Given the description of an element on the screen output the (x, y) to click on. 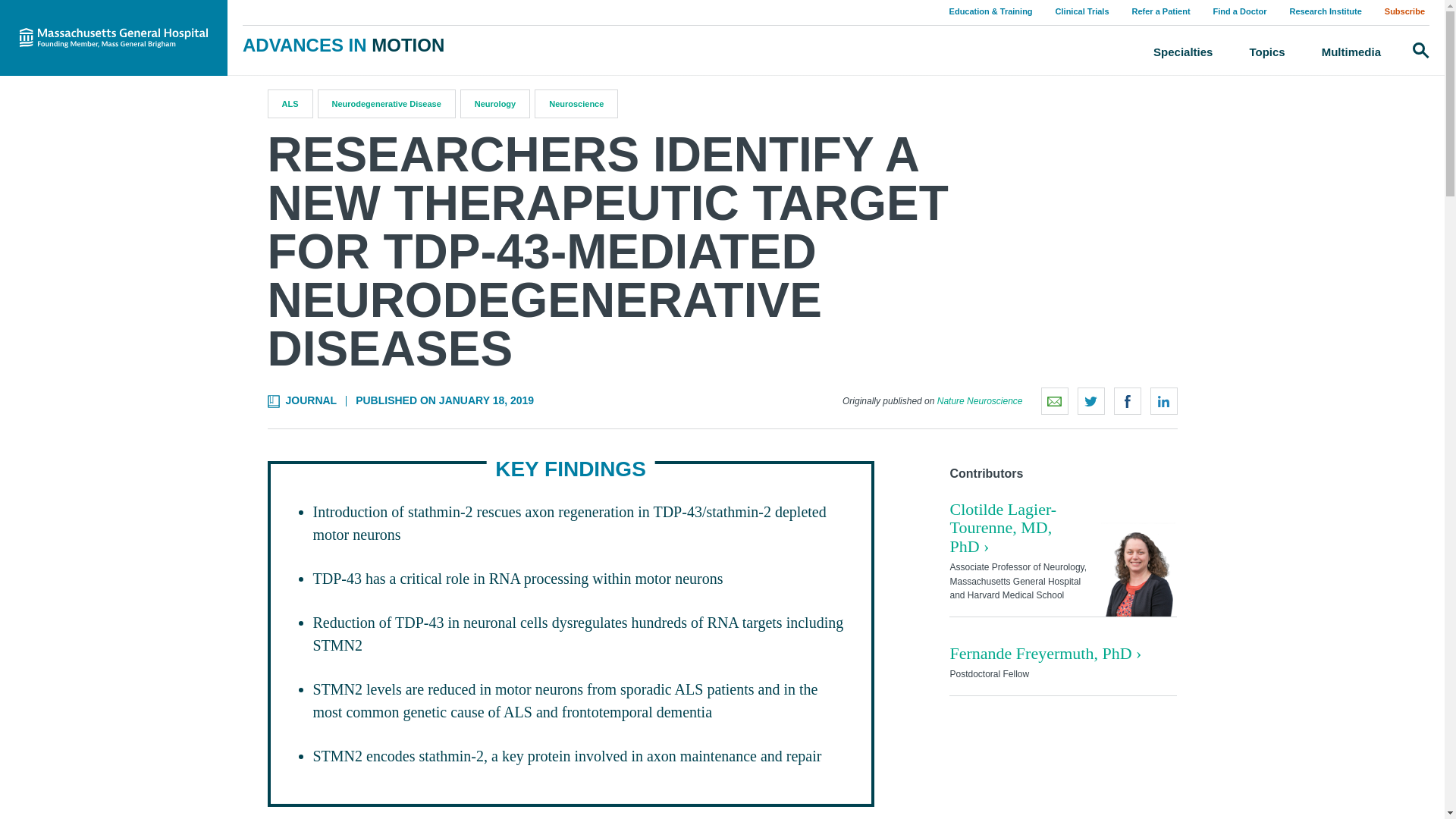
Skip to content (15, 15)
Subscribe (1404, 11)
Research Institute (1324, 11)
Find a Doctor (1239, 11)
Clinical Trials (1082, 11)
Refer a Patient (1160, 11)
Topics (1266, 51)
ADVANCES IN MOTION (343, 45)
Specialties (1182, 51)
Massachusetts General Hospital (113, 38)
